Given the description of an element on the screen output the (x, y) to click on. 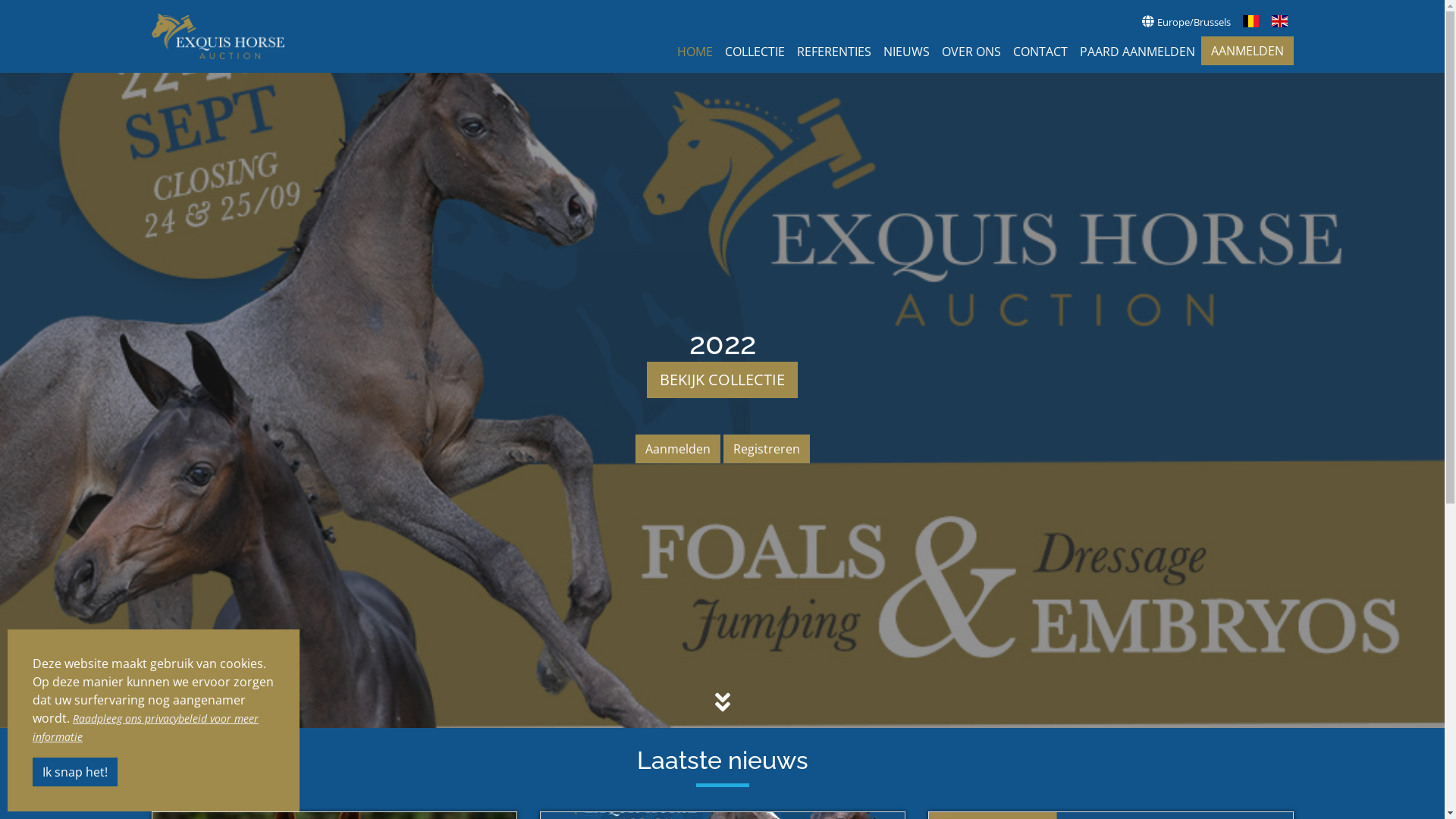
OVER ONS Element type: text (971, 51)
Raadpleeg ons privacybeleid voor meer informatie Element type: text (145, 727)
BEKIJK COLLECTIE Element type: text (721, 379)
Ik snap het! Element type: text (74, 771)
Europe/Brussels Element type: text (1185, 21)
Aanmelden Element type: text (677, 448)
AANMELDEN Element type: text (1247, 50)
Registreren Element type: text (766, 448)
NIEUWS Element type: text (905, 51)
COLLECTIE Element type: text (754, 51)
PAARD AANMELDEN Element type: text (1137, 51)
CONTACT Element type: text (1040, 51)
HOME Element type: text (694, 51)
REFERENTIES Element type: text (833, 51)
